Given the description of an element on the screen output the (x, y) to click on. 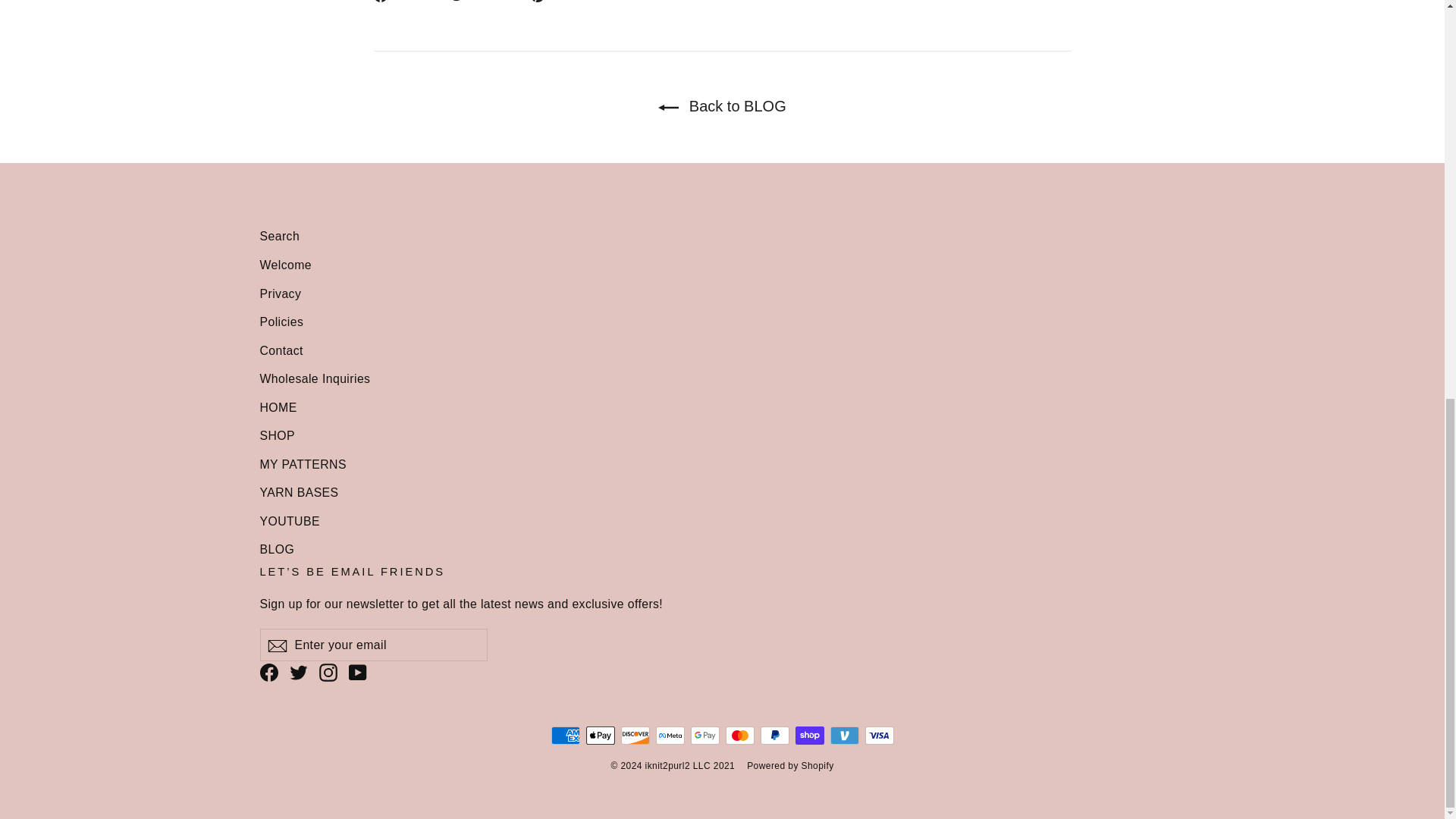
iknit2purl2 on Twitter (298, 670)
Discover (634, 735)
iknit2purl2 on Facebook (268, 670)
Meta Pay (669, 735)
Apple Pay (599, 735)
American Express (564, 735)
Google Pay (704, 735)
Pin on Pinterest (561, 2)
iknit2purl2 on YouTube (357, 670)
Share on Facebook (405, 2)
PayPal (774, 735)
Mastercard (739, 735)
Tweet on Twitter (483, 2)
iknit2purl2 on Instagram (327, 670)
